Given the description of an element on the screen output the (x, y) to click on. 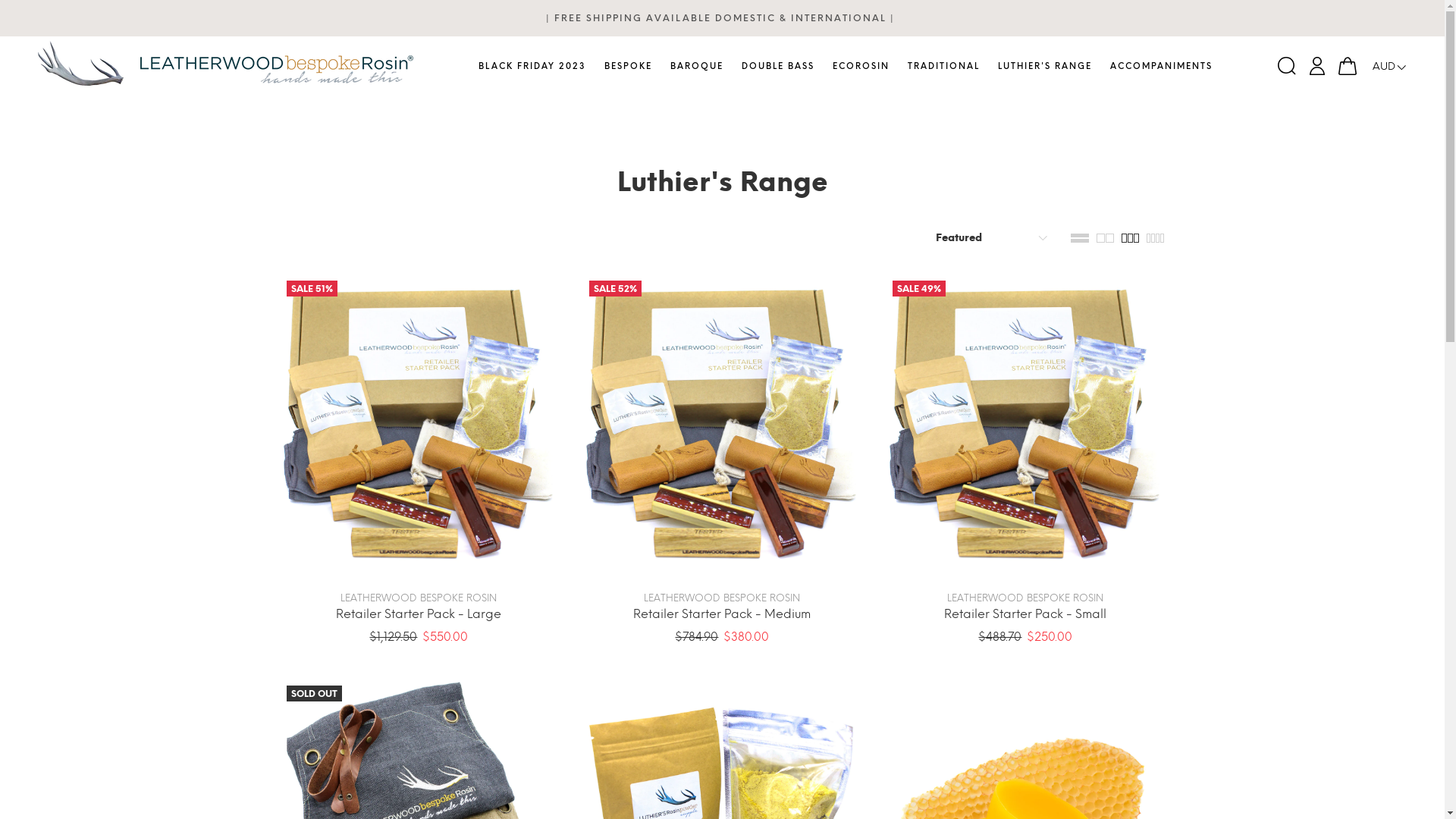
TRADITIONAL Element type: text (943, 66)
Retailer Starter Pack - Small Element type: text (1025, 613)
SALE 52% Element type: text (721, 422)
AUD Element type: text (1385, 67)
SALE 49% Element type: text (1024, 422)
Retailer Starter Pack - Medium Element type: text (721, 613)
ECOROSIN Element type: text (860, 66)
ACCOMPANIMENTS Element type: text (1156, 66)
LEATHERWOOD BESPOKE ROSIN Element type: text (418, 597)
LEATHERWOOD BESPOKE ROSIN Element type: text (1025, 597)
BESPOKE Element type: text (628, 66)
SALE 51% Element type: text (419, 422)
BLACK FRIDAY 2023 Element type: text (536, 66)
LUTHIER'S RANGE Element type: text (1044, 66)
BAROQUE Element type: text (696, 66)
LEATHERWOOD BESPOKE ROSIN Element type: text (721, 597)
Retailer Starter Pack - Large Element type: text (418, 613)
DOUBLE BASS Element type: text (777, 66)
